Given the description of an element on the screen output the (x, y) to click on. 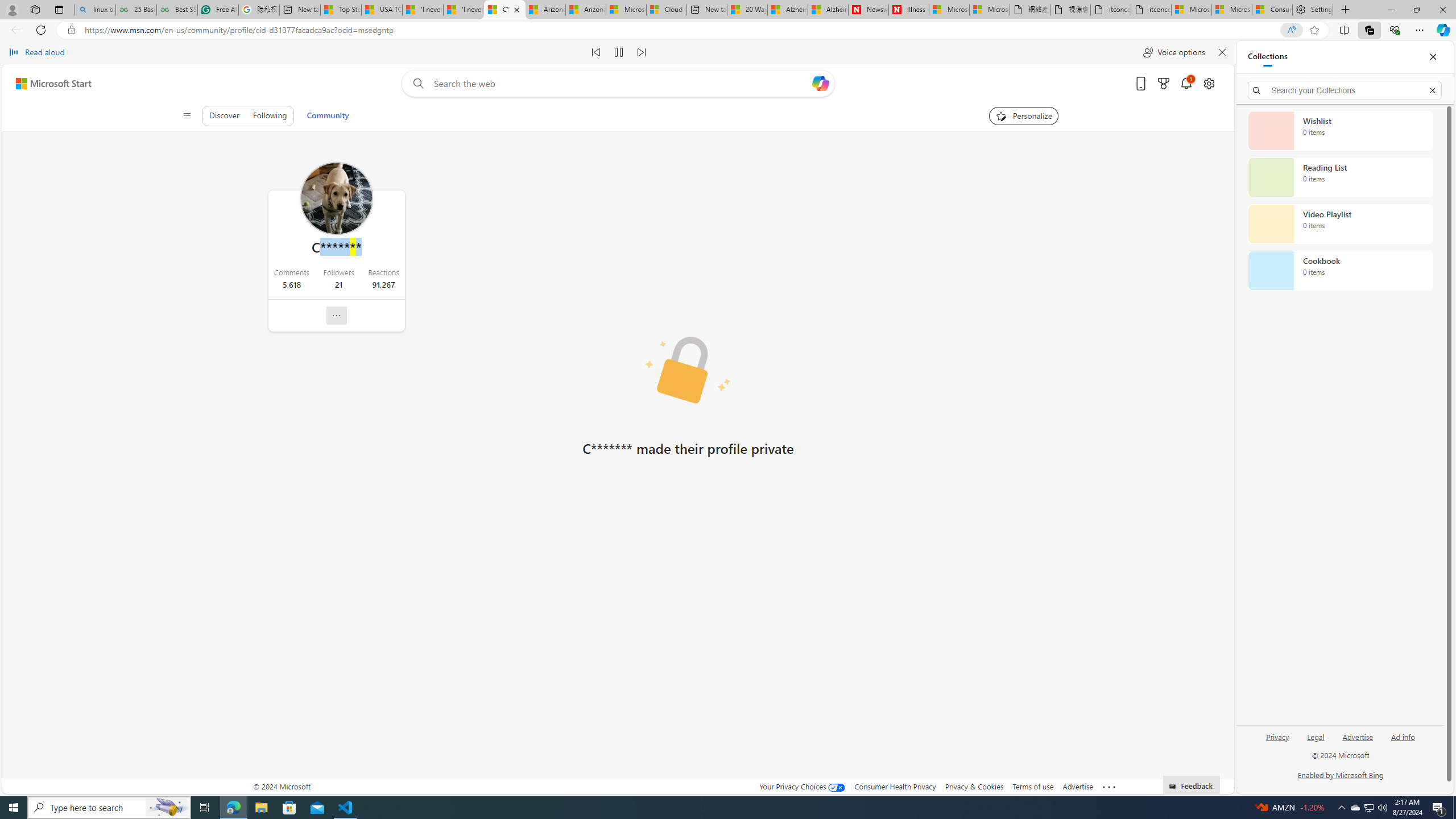
C******* | Trusted Community Engagement and Contributions (504, 9)
Community (327, 115)
Search your Collections (1345, 90)
USA TODAY - MSN (381, 9)
Close read aloud (1221, 52)
